Given the description of an element on the screen output the (x, y) to click on. 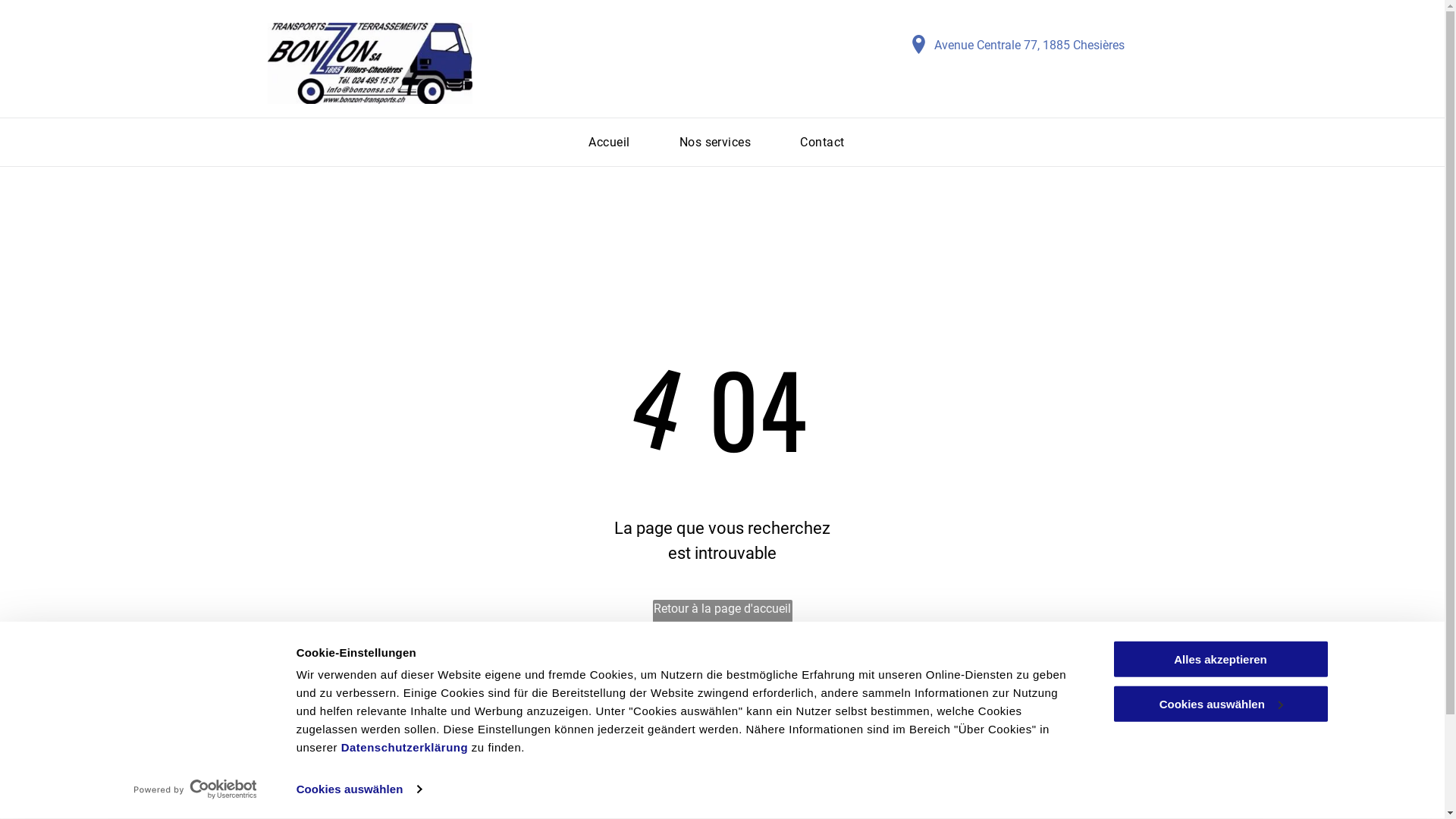
Alles akzeptieren Element type: text (1219, 659)
Accueil Element type: text (608, 142)
Contact Element type: text (821, 142)
024 495 15 37 Element type: text (464, 801)
Nos services Element type: text (715, 142)
